Given the description of an element on the screen output the (x, y) to click on. 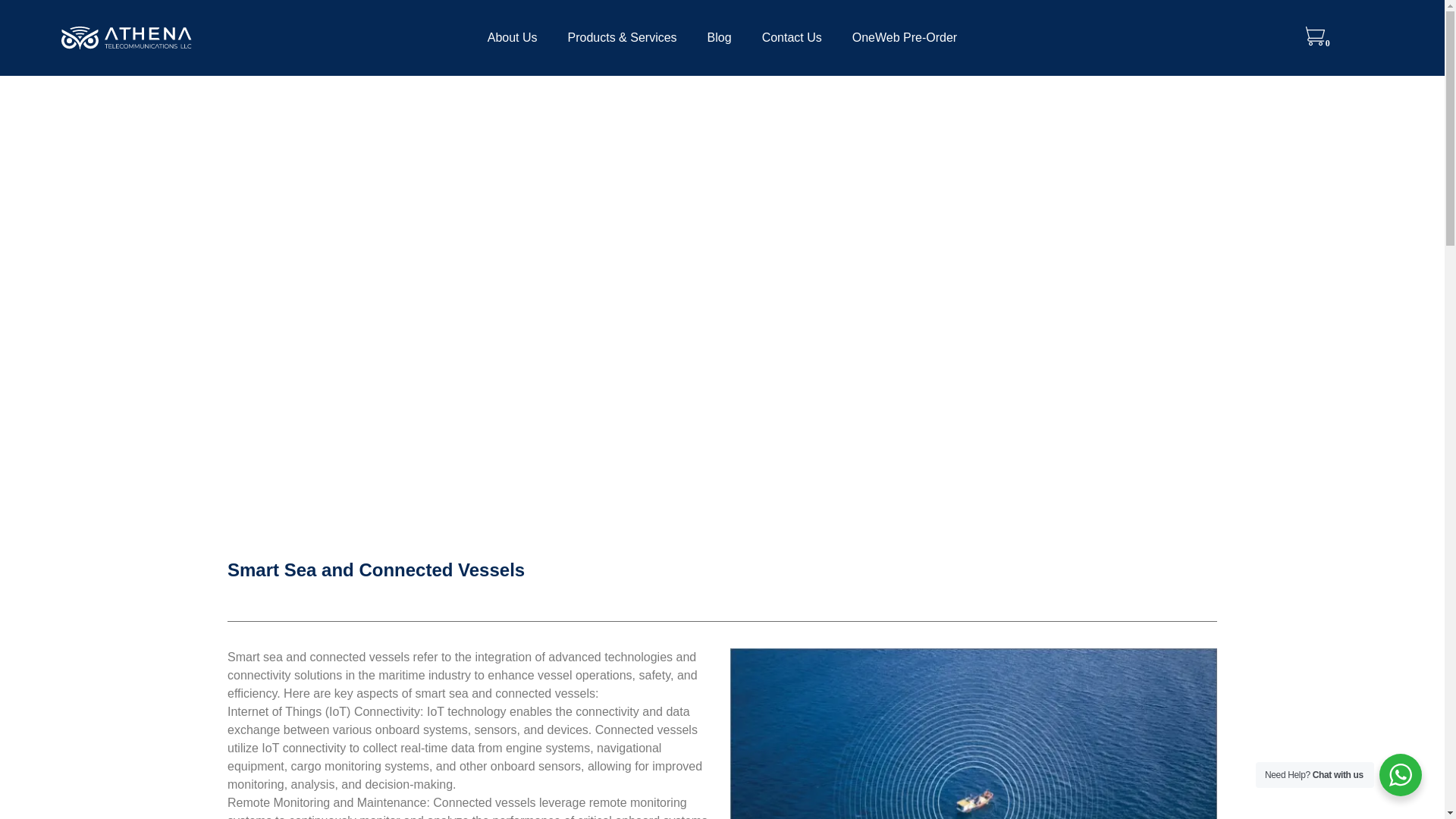
About Us (512, 37)
Blog (719, 37)
Add to Cart (273, 308)
Contact Us (791, 37)
OneWeb Pre-Order (904, 37)
0 (1318, 42)
